Given the description of an element on the screen output the (x, y) to click on. 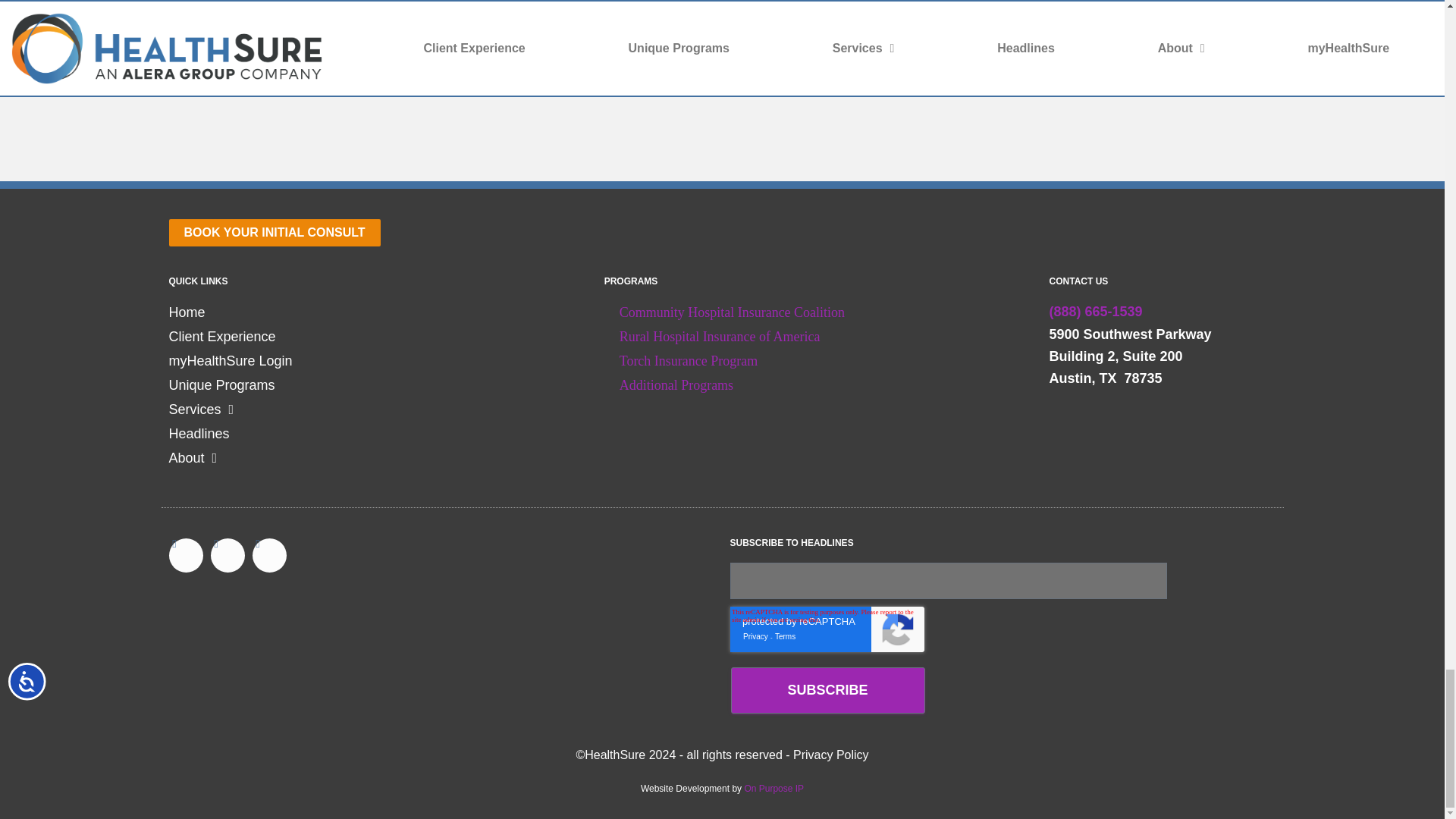
reCAPTCHA (826, 628)
Subscribe (827, 690)
